Given the description of an element on the screen output the (x, y) to click on. 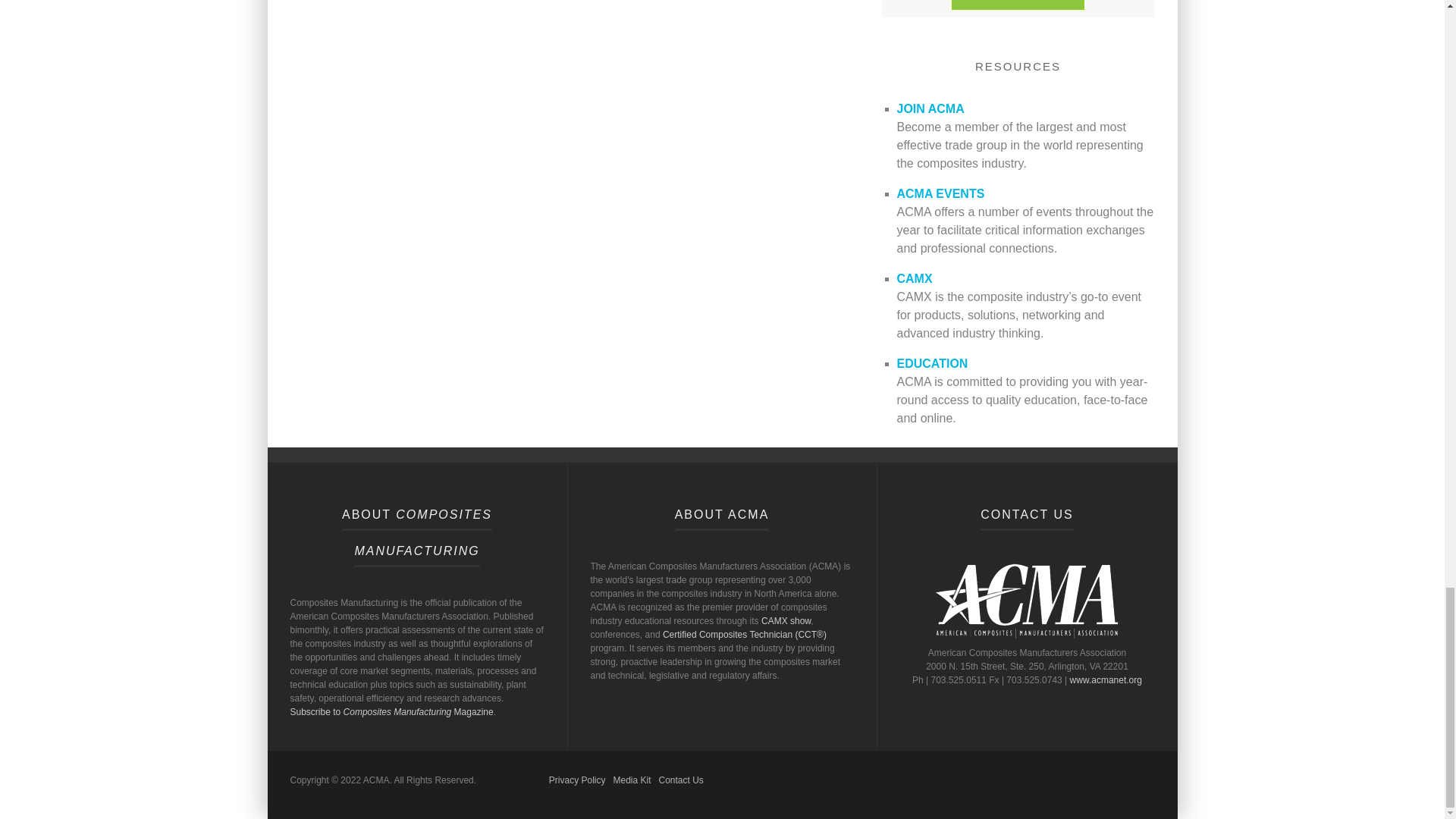
Subscribe (1017, 4)
